Given the description of an element on the screen output the (x, y) to click on. 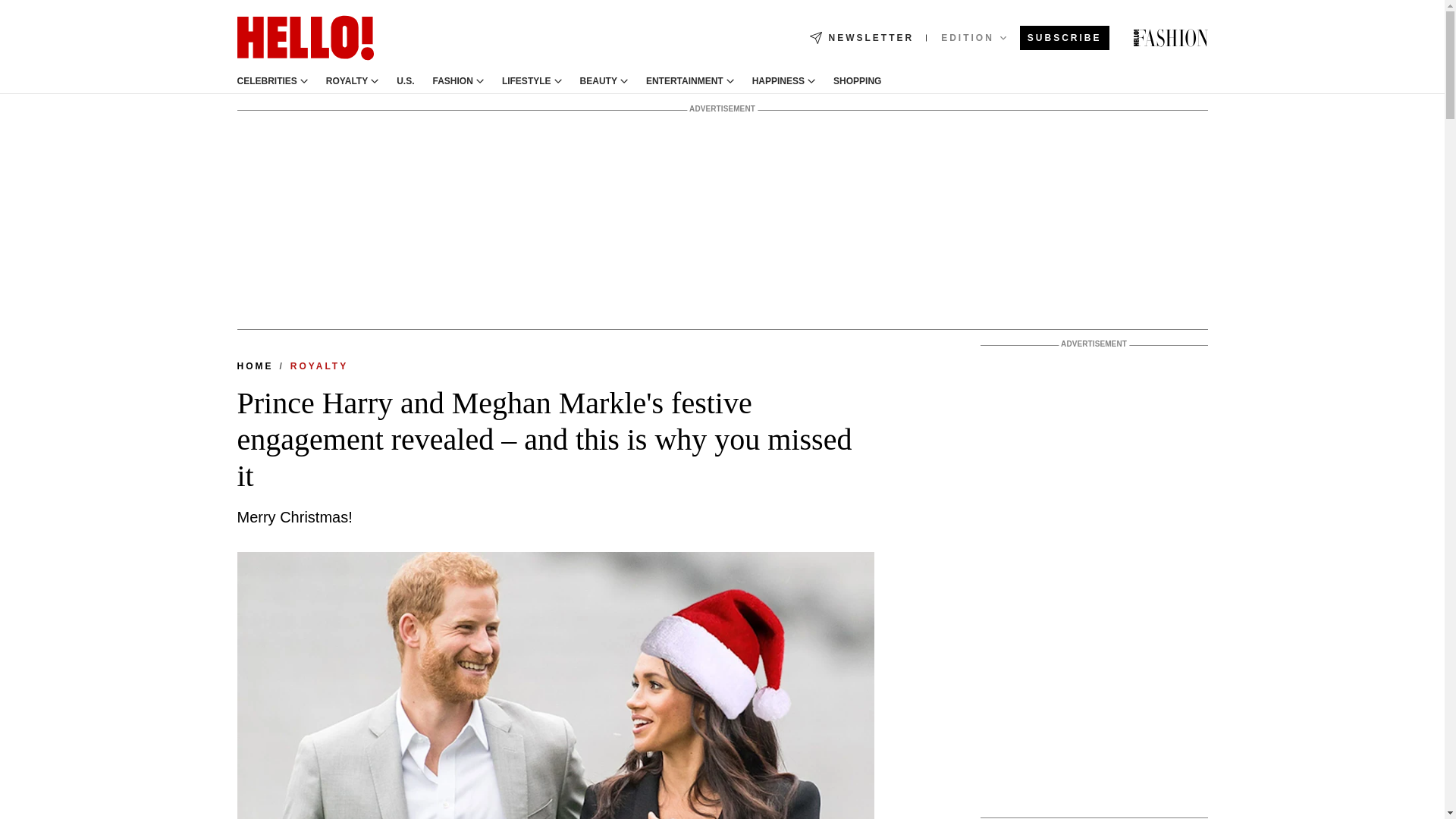
CELEBRITIES (266, 81)
U.S. (404, 81)
FASHION (452, 81)
ROYALTY (347, 81)
NEWSLETTER (861, 38)
BEAUTY (598, 81)
